Given the description of an element on the screen output the (x, y) to click on. 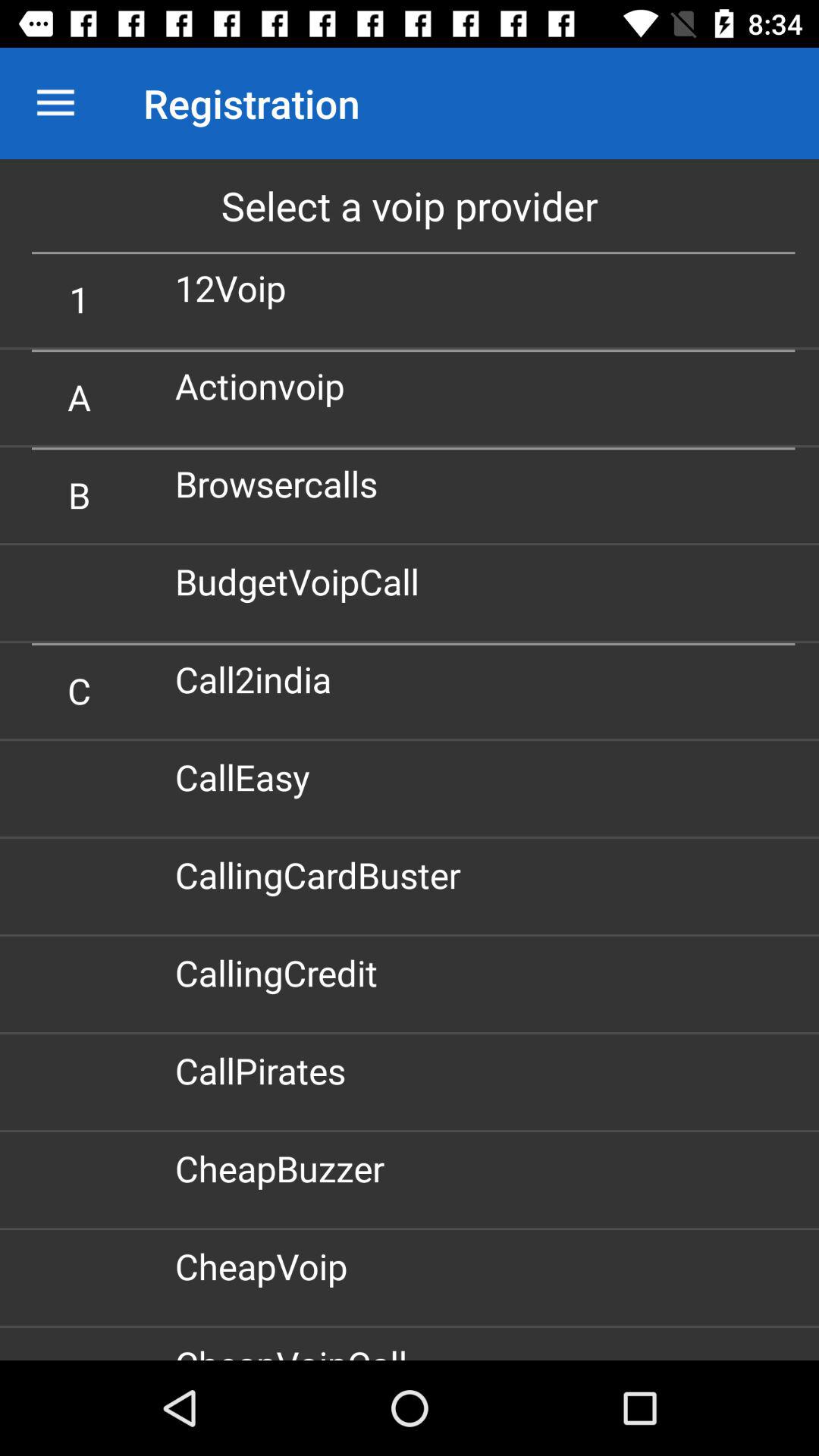
choose icon below the browsercalls (303, 581)
